Given the description of an element on the screen output the (x, y) to click on. 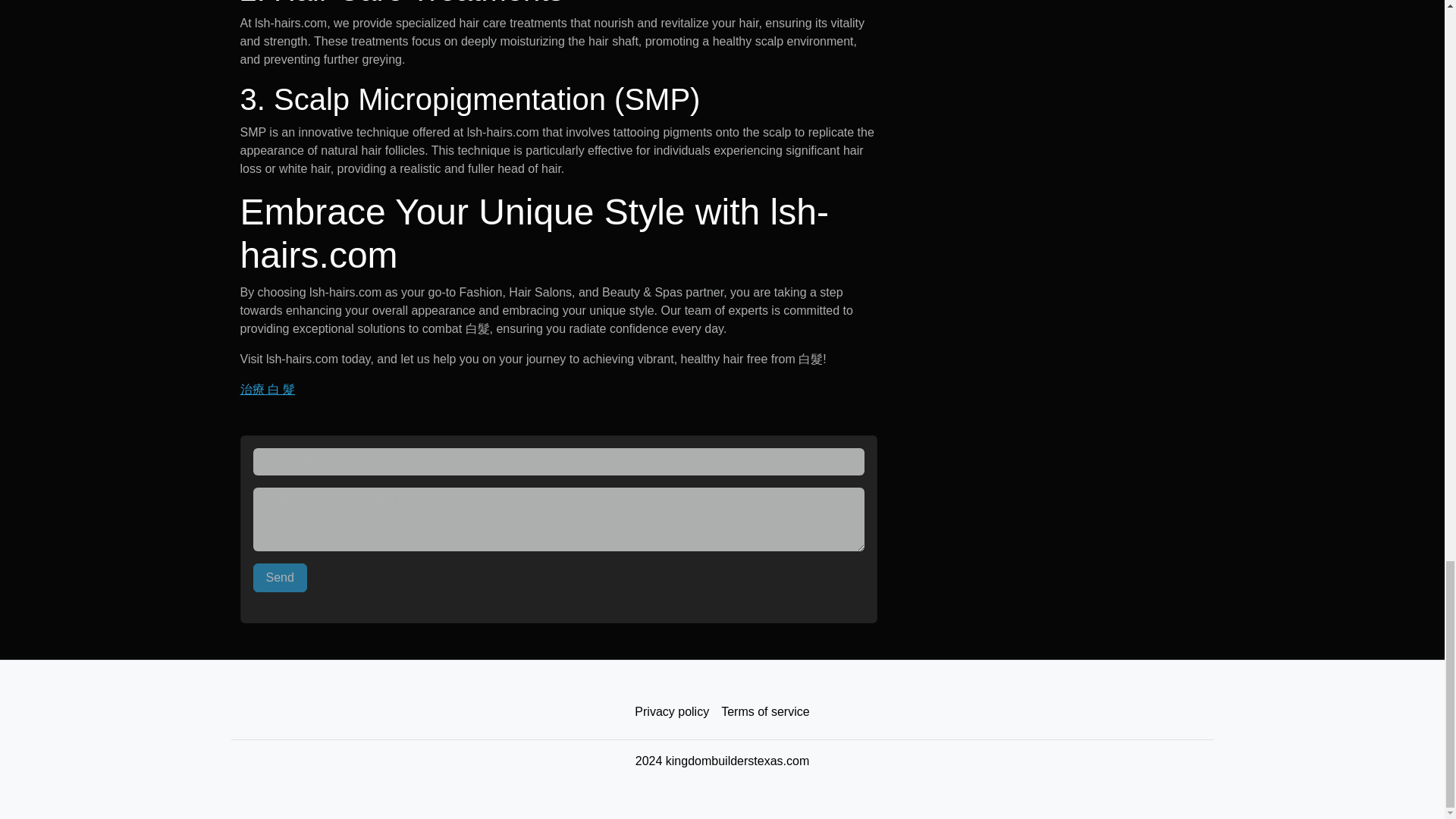
Terms of service (764, 711)
Send (280, 577)
Privacy policy (671, 711)
Send (280, 577)
